Given the description of an element on the screen output the (x, y) to click on. 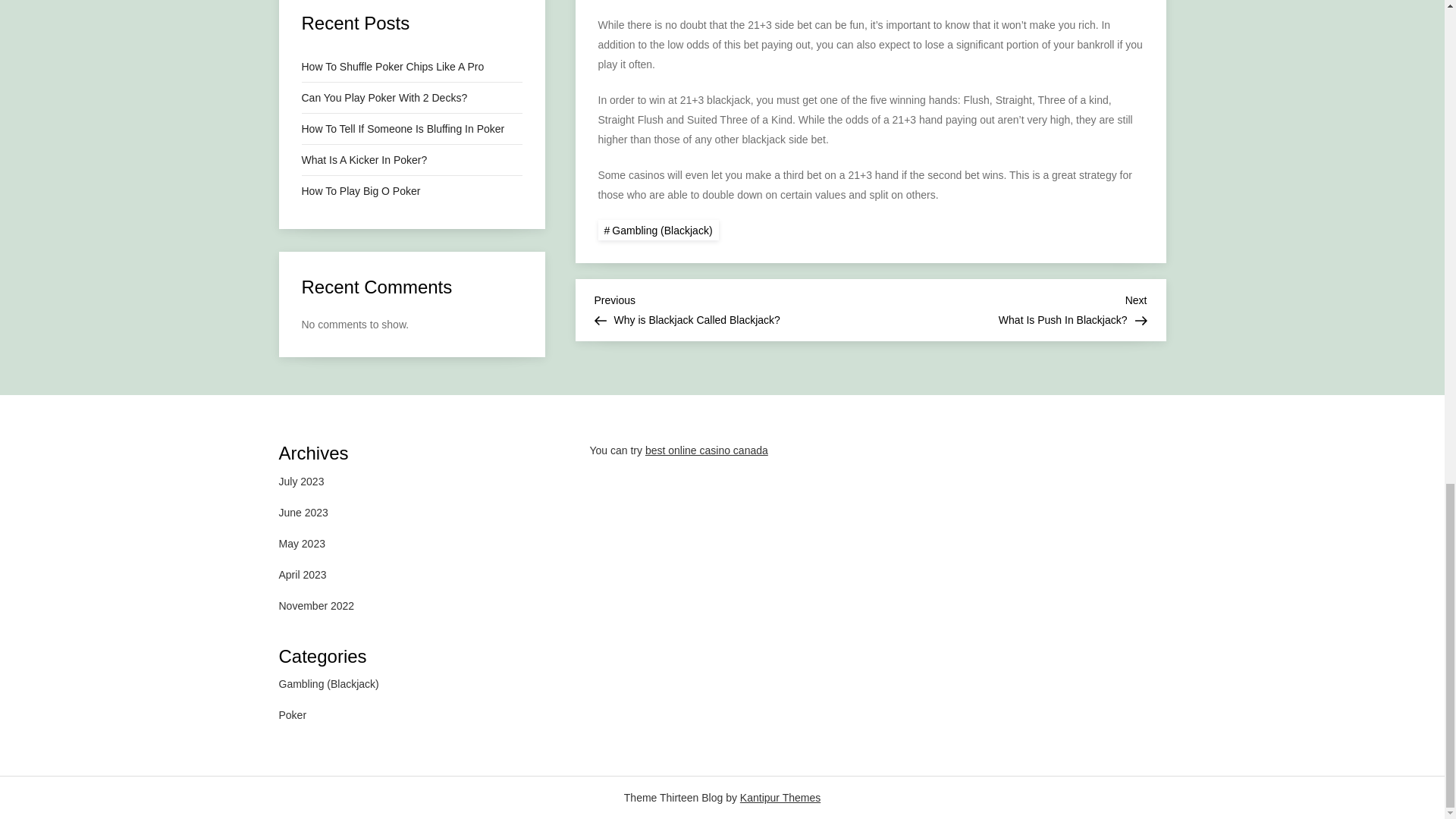
best online casino canada (706, 450)
April 2023 (302, 573)
July 2023 (301, 481)
November 2022 (317, 605)
June 2023 (304, 511)
May 2023 (732, 307)
Poker (1008, 307)
Kantipur Themes (301, 543)
